Given the description of an element on the screen output the (x, y) to click on. 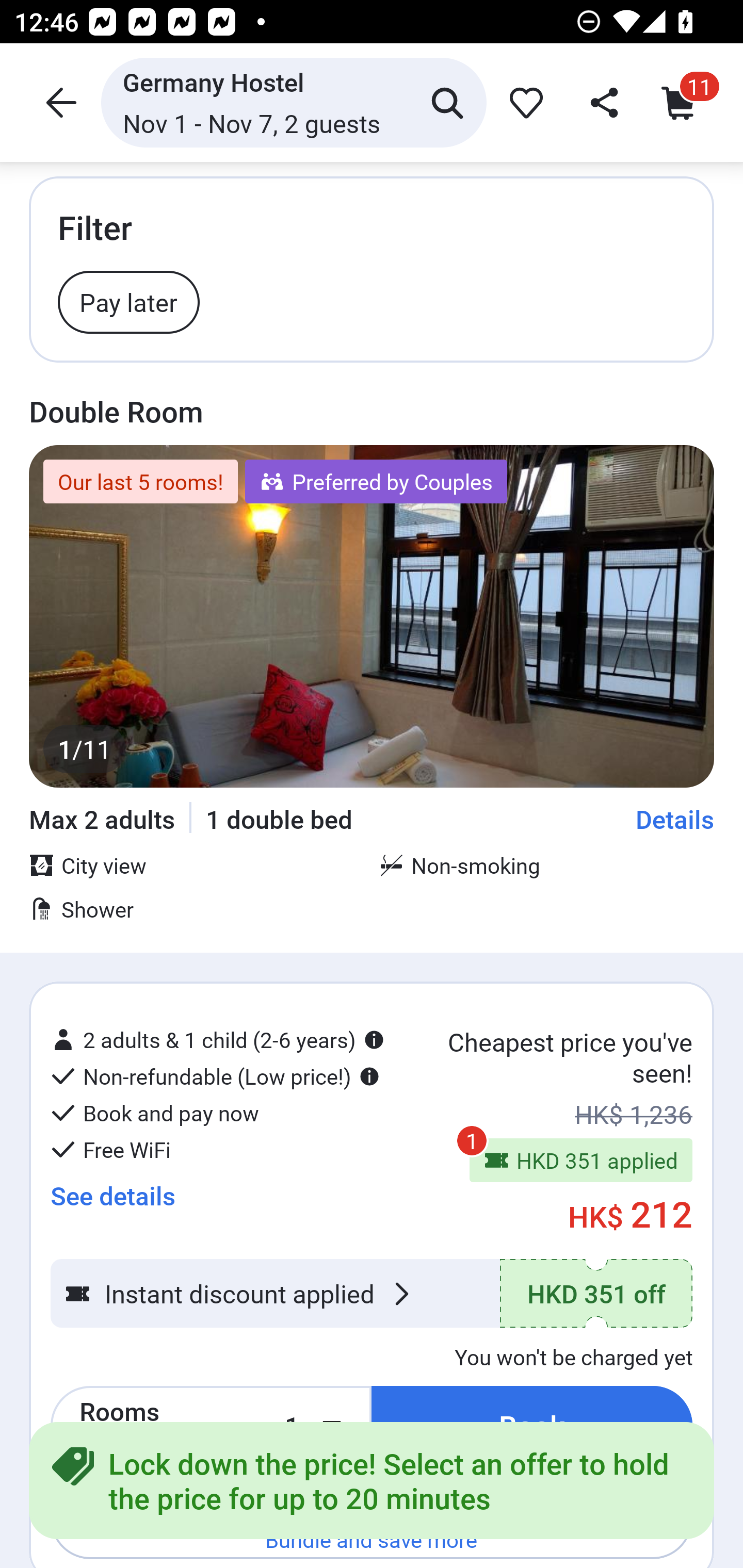
header icon (59, 102)
favorite_icon 0dbe6efb (522, 102)
share_header_icon (601, 102)
Cart icon cart_item_count 11 (683, 102)
Pay later (128, 301)
image (371, 616)
Details (674, 819)
2 adults & 1 child (2-6 years) (217, 1040)
Non-refundable (Low price!) (215, 1076)
See details (112, 1195)
Instant discount applied HKD 351 off (371, 1293)
